Given the description of an element on the screen output the (x, y) to click on. 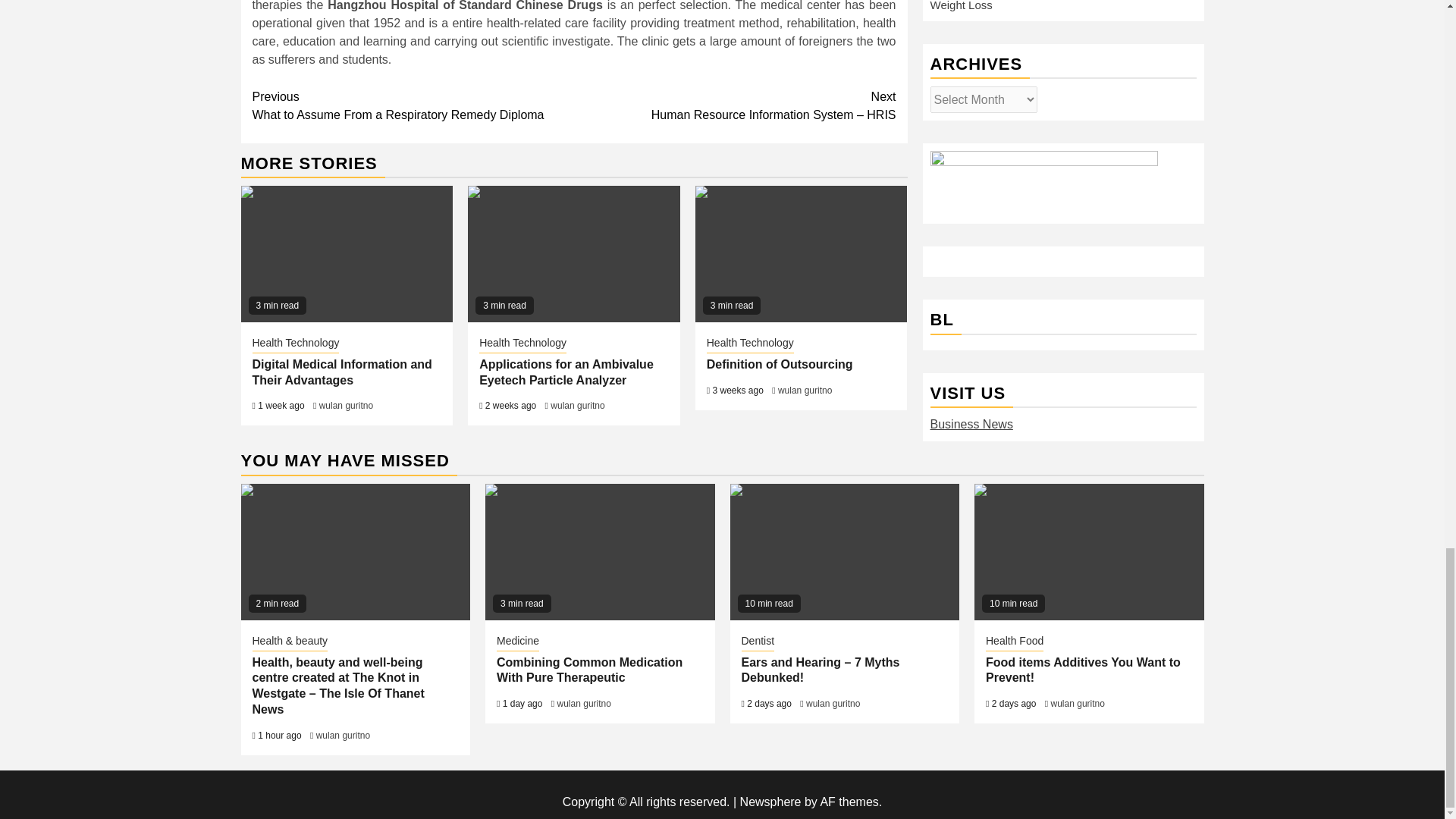
Health Technology (522, 343)
Health Technology (295, 343)
Applications for an Ambivalue Eyetech Particle Analyzer (573, 253)
Health Technology (749, 343)
Food items Additives You Want to Prevent! (1089, 551)
wulan guritno (577, 405)
wulan guritno (804, 389)
Applications for an Ambivalue Eyetech Particle Analyzer (566, 371)
Definition of Outsourcing (779, 364)
Digital Medical Information and Their Advantages (346, 253)
